Given the description of an element on the screen output the (x, y) to click on. 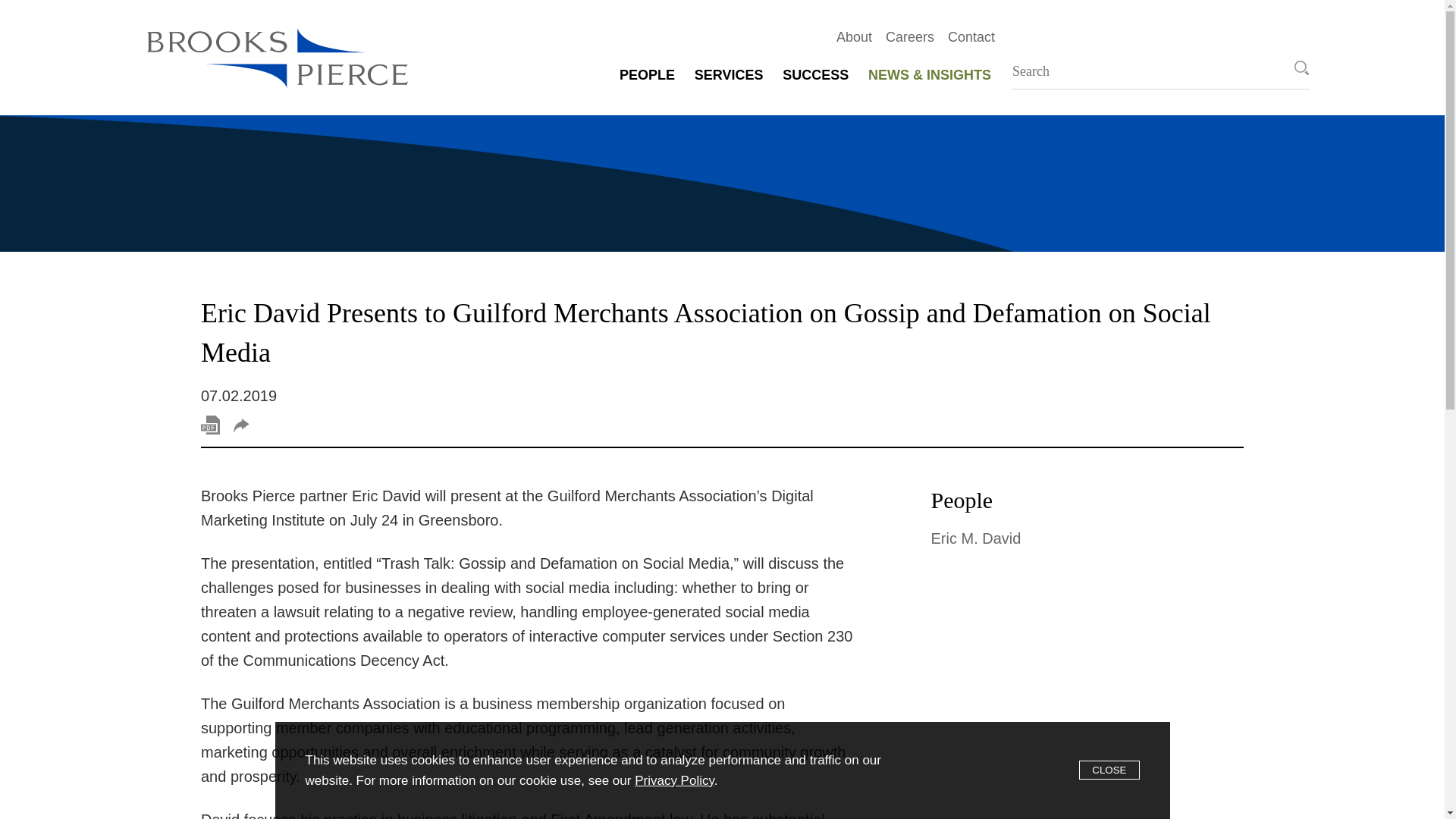
About (847, 37)
Main Content (671, 20)
SERVICES (728, 74)
Careers (903, 37)
Share (240, 425)
PEOPLE (646, 74)
Menu (679, 20)
Main Menu (679, 20)
SUCCESS (814, 74)
